Given the description of an element on the screen output the (x, y) to click on. 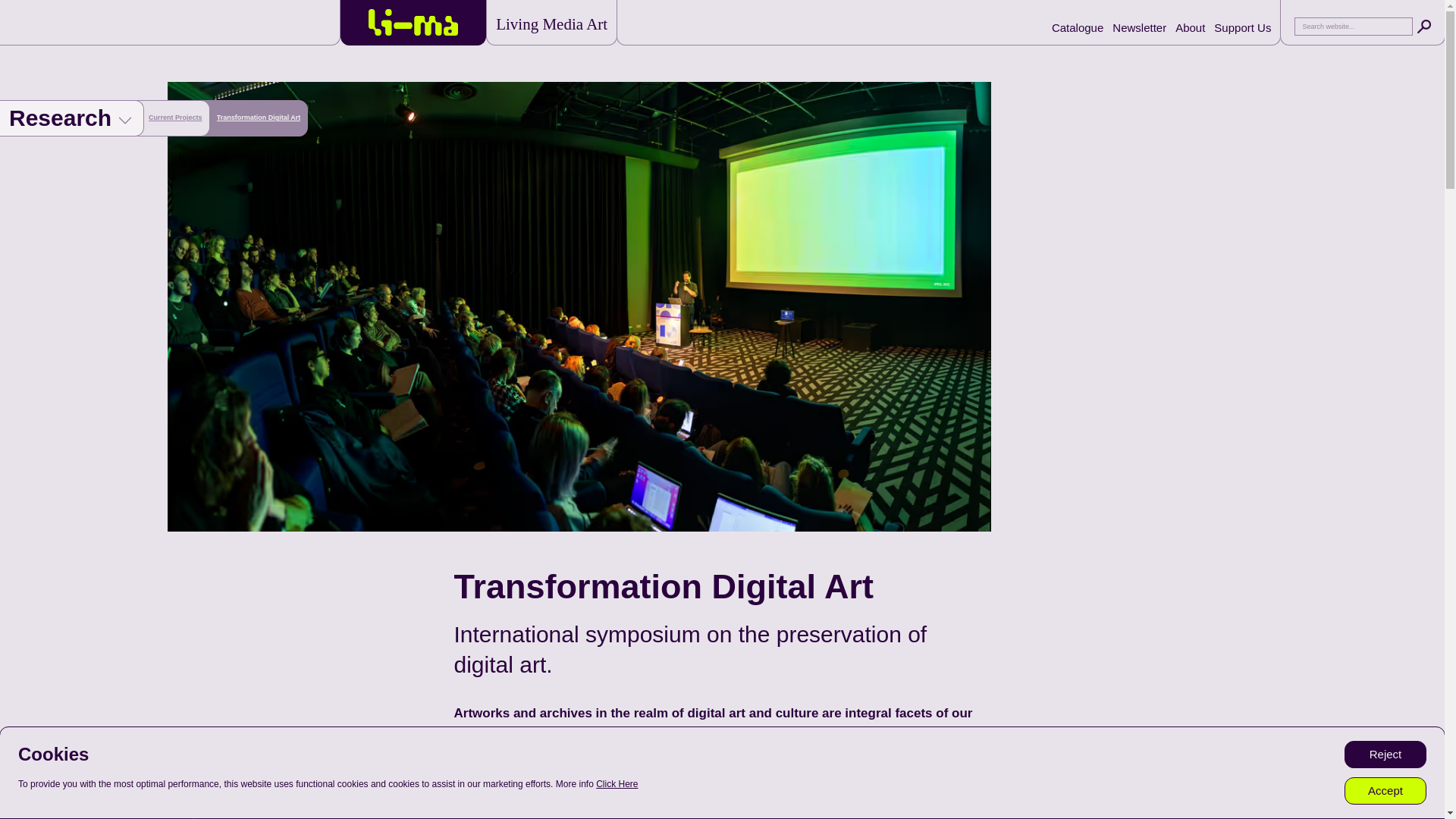
Transformation Digital Art (258, 118)
Catalogue (1077, 27)
Transformation Digital Art (258, 118)
Current Projects (175, 118)
Living Media Art (551, 24)
Click Here (616, 783)
Catalogue (1077, 27)
Newsletter (1139, 27)
about (1189, 27)
About (1189, 27)
